Given the description of an element on the screen output the (x, y) to click on. 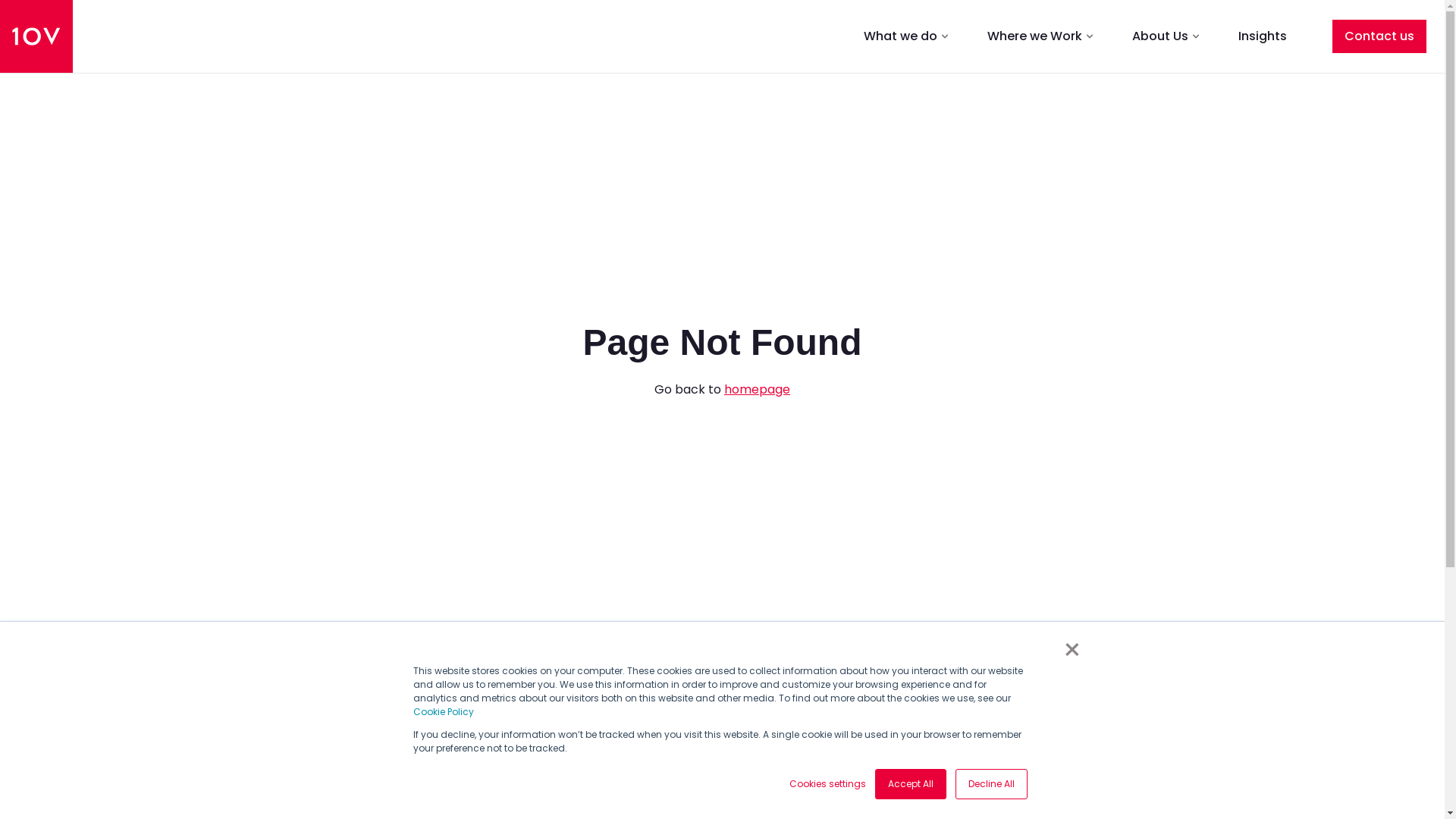
Anti Slavery Policy Element type: text (699, 778)
Decline All Element type: text (991, 783)
OKR Training Element type: text (315, 778)
Contact us Element type: text (1379, 36)
Accept All Element type: text (910, 783)
About us Element type: text (489, 778)
Cookies settings Element type: text (826, 783)
homepage Element type: text (757, 389)
Insights Element type: text (1262, 36)
Cookie Policy Element type: text (442, 711)
